Given the description of an element on the screen output the (x, y) to click on. 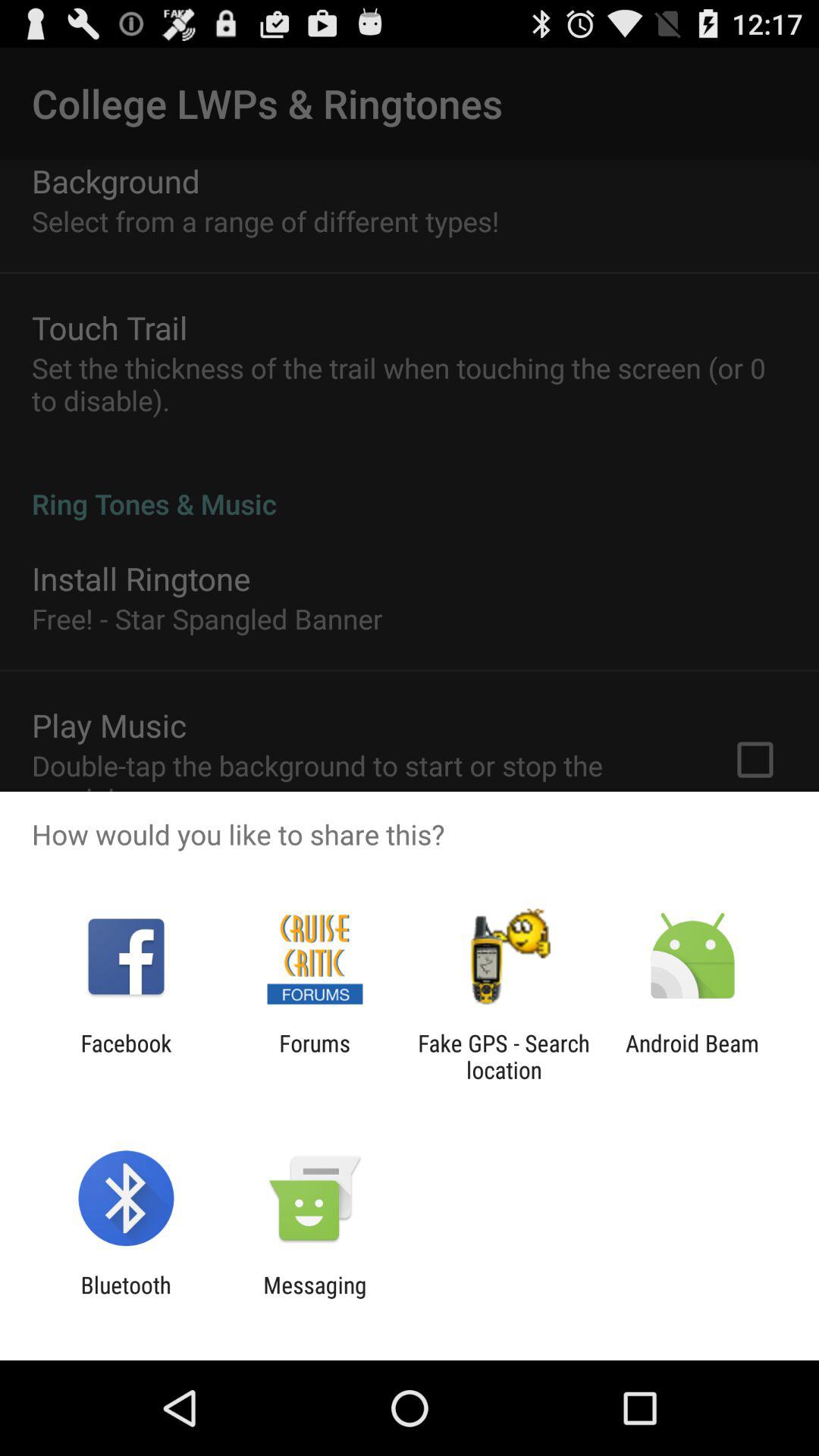
choose app next to forums item (503, 1056)
